Given the description of an element on the screen output the (x, y) to click on. 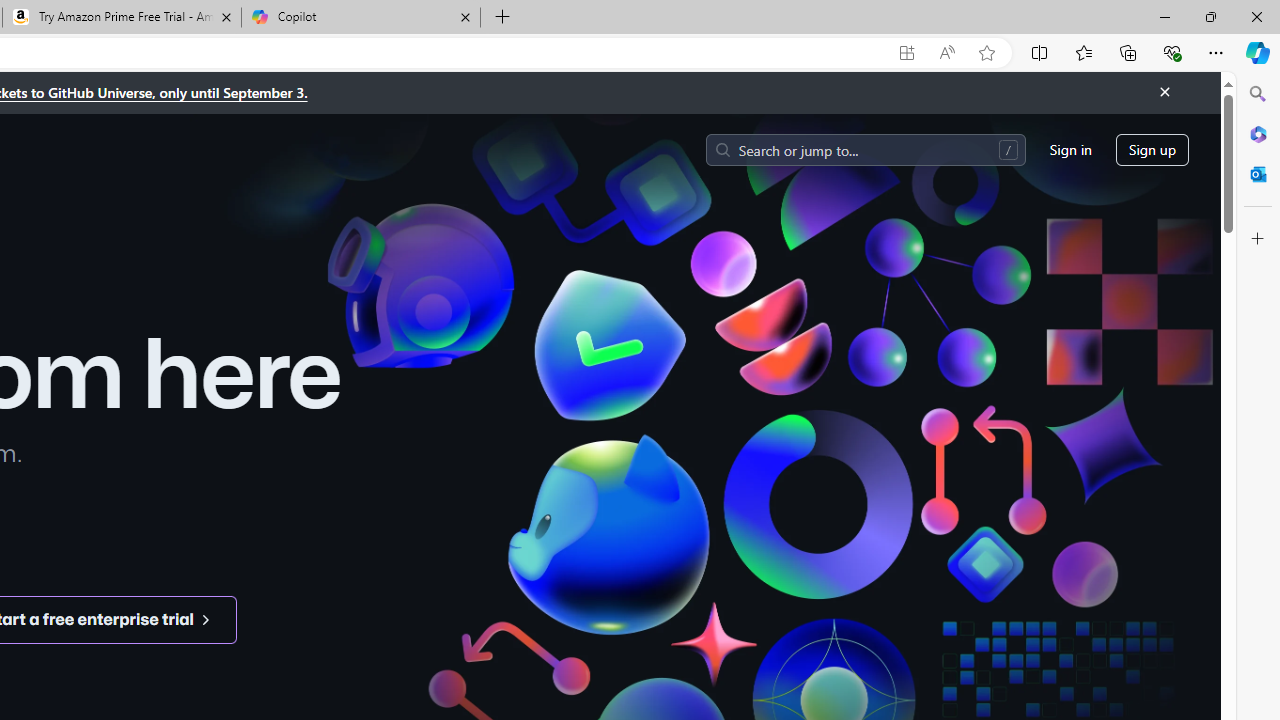
Sign up (1152, 149)
Settings and more (Alt+F) (1215, 52)
New Tab (502, 17)
Customize (1258, 239)
Close (1164, 92)
Search (1258, 94)
Read aloud this page (Ctrl+Shift+U) (946, 53)
Sign in (1070, 149)
